Given the description of an element on the screen output the (x, y) to click on. 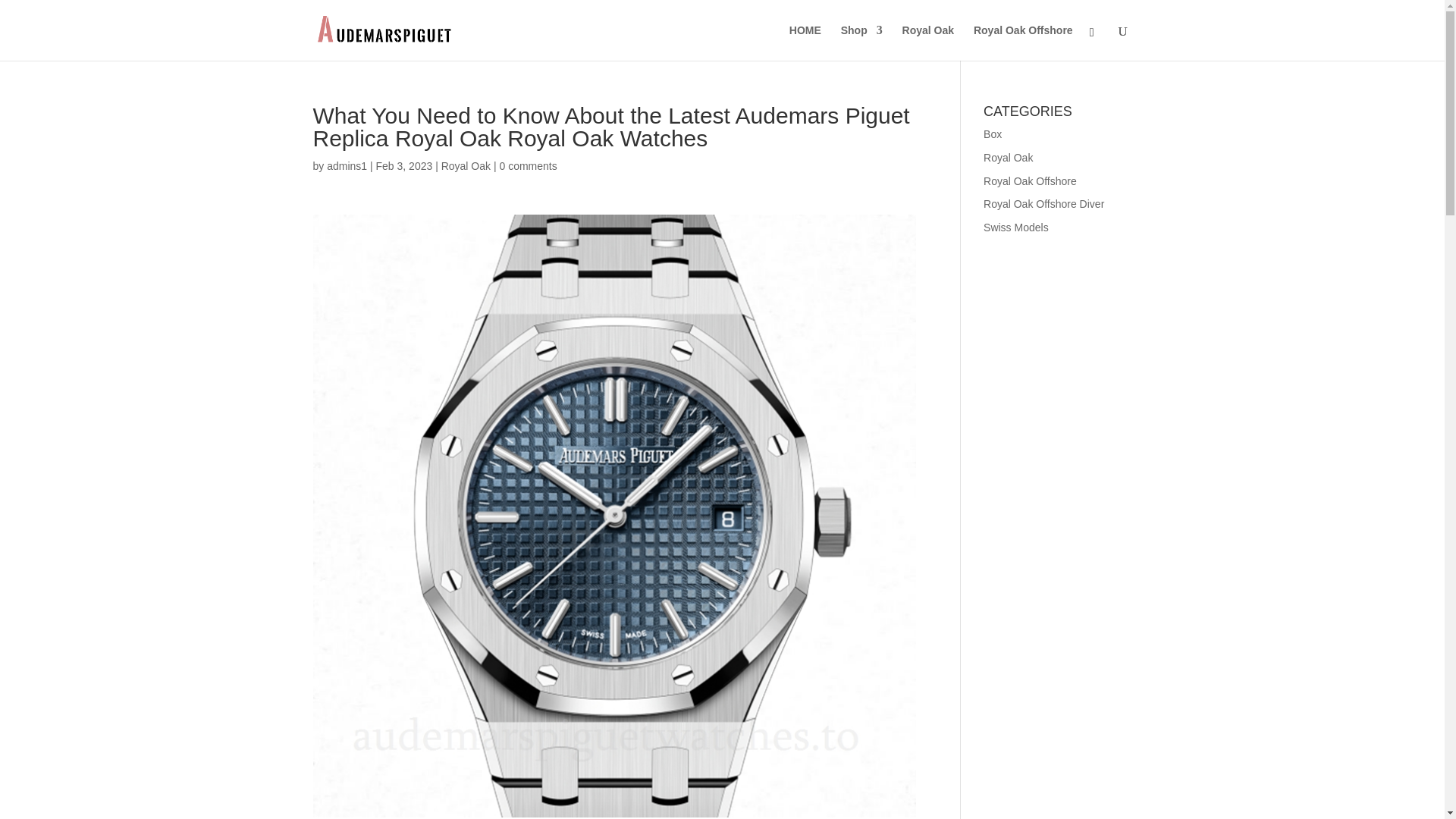
Royal Oak Offshore (1030, 181)
Royal Oak Offshore Diver (1043, 203)
HOME (805, 42)
Royal Oak Offshore (1023, 42)
Posts by admins1 (346, 165)
Royal Oak (1008, 157)
Box (992, 133)
admins1 (346, 165)
Royal Oak (465, 165)
Shop (861, 42)
